Given the description of an element on the screen output the (x, y) to click on. 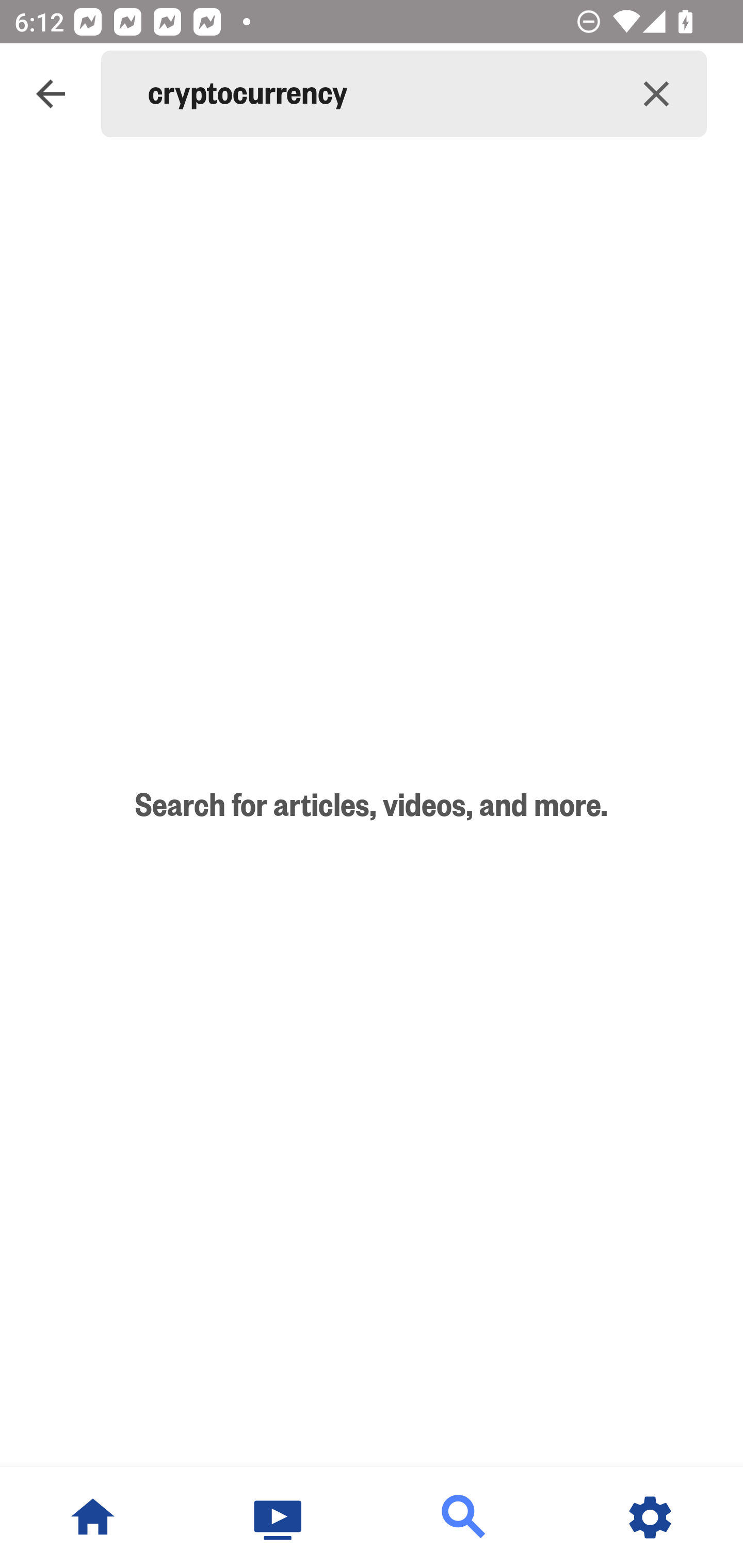
Navigate up (50, 93)
Clear query (656, 93)
cryptocurrency (376, 94)
NBC News Home (92, 1517)
Watch (278, 1517)
Settings (650, 1517)
